Given the description of an element on the screen output the (x, y) to click on. 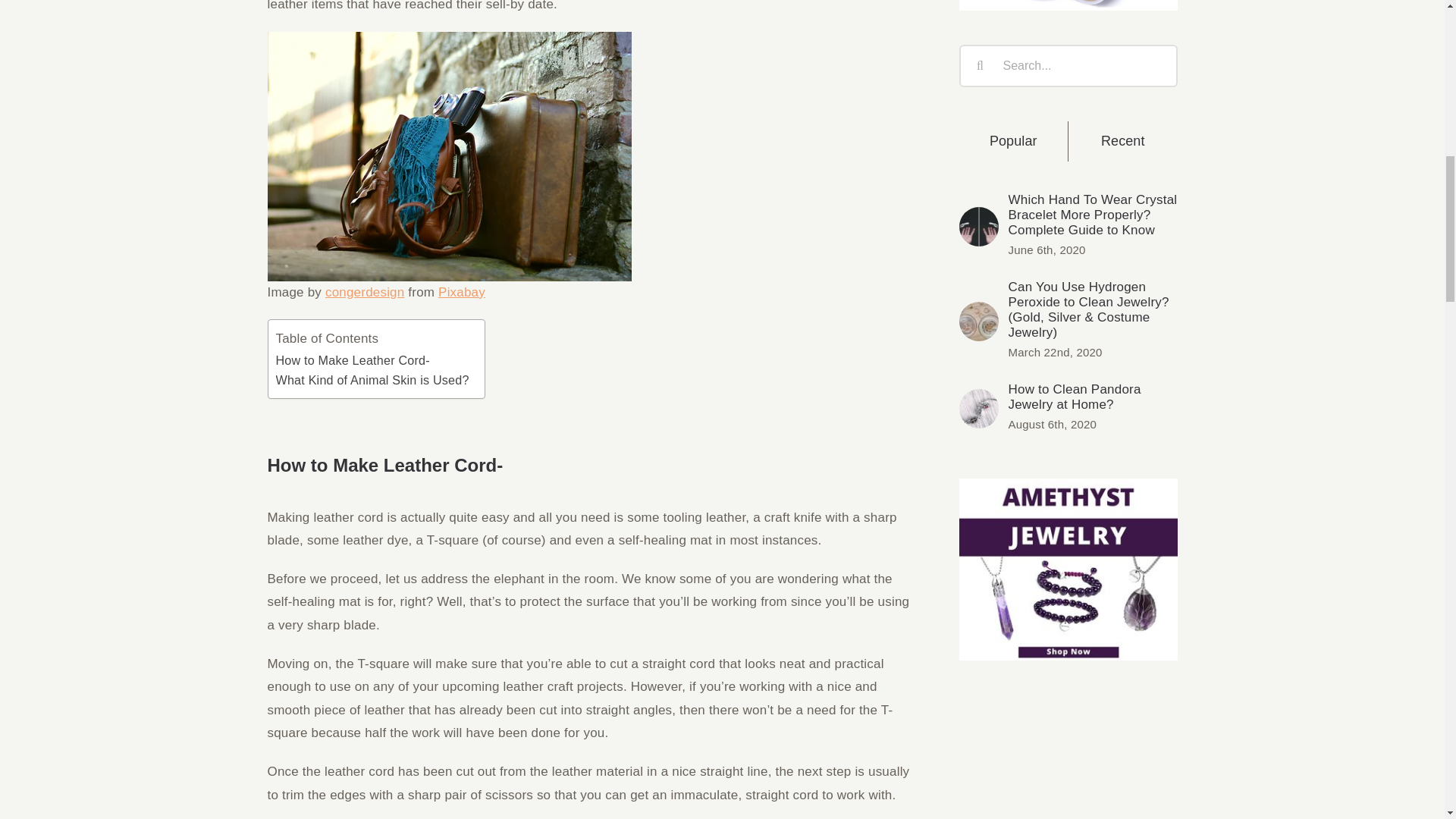
How to Make Leather Cord- (352, 361)
What Kind of Animal Skin is Used? (372, 380)
